Given the description of an element on the screen output the (x, y) to click on. 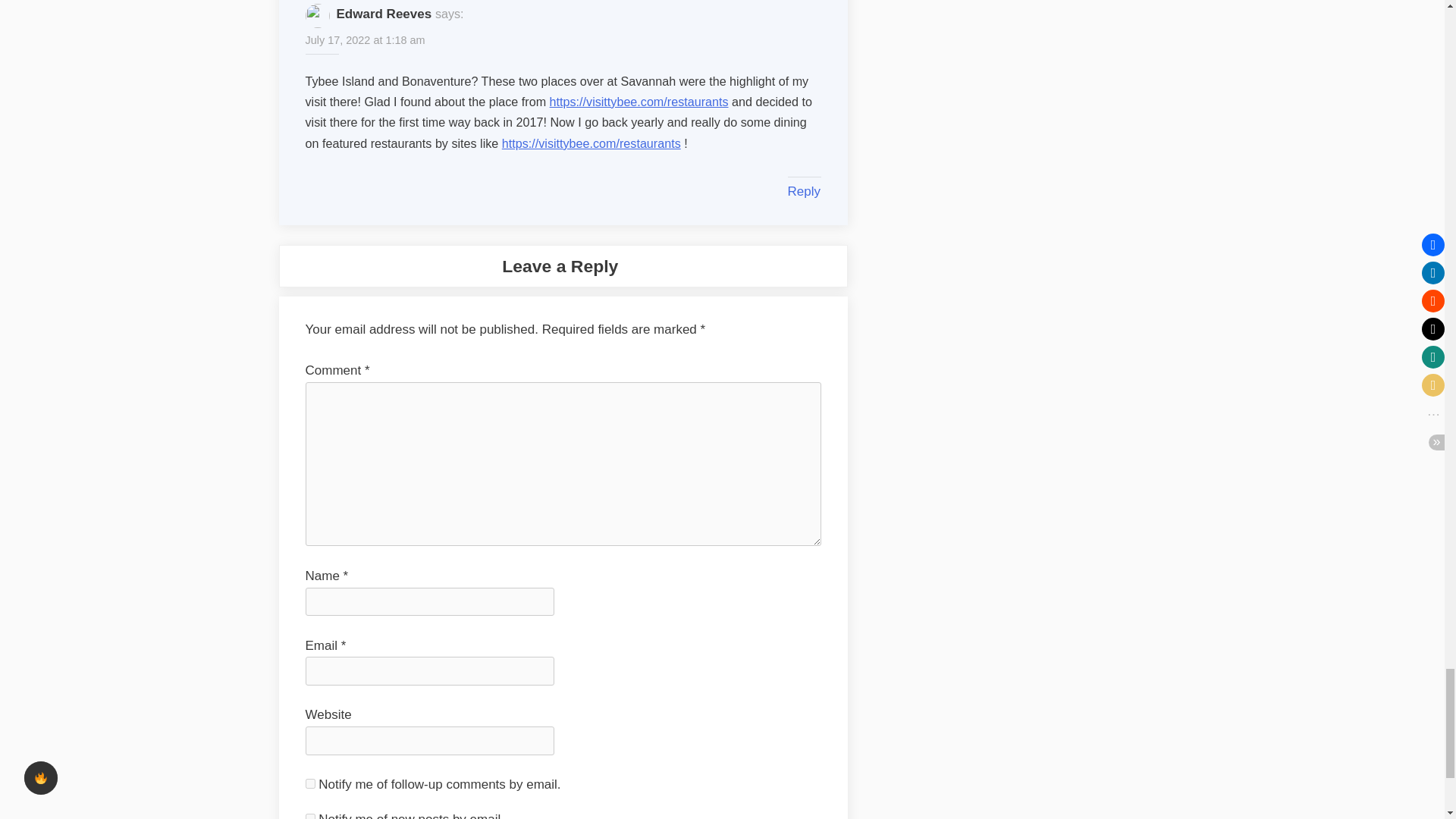
subscribe (309, 816)
subscribe (309, 783)
